Given the description of an element on the screen output the (x, y) to click on. 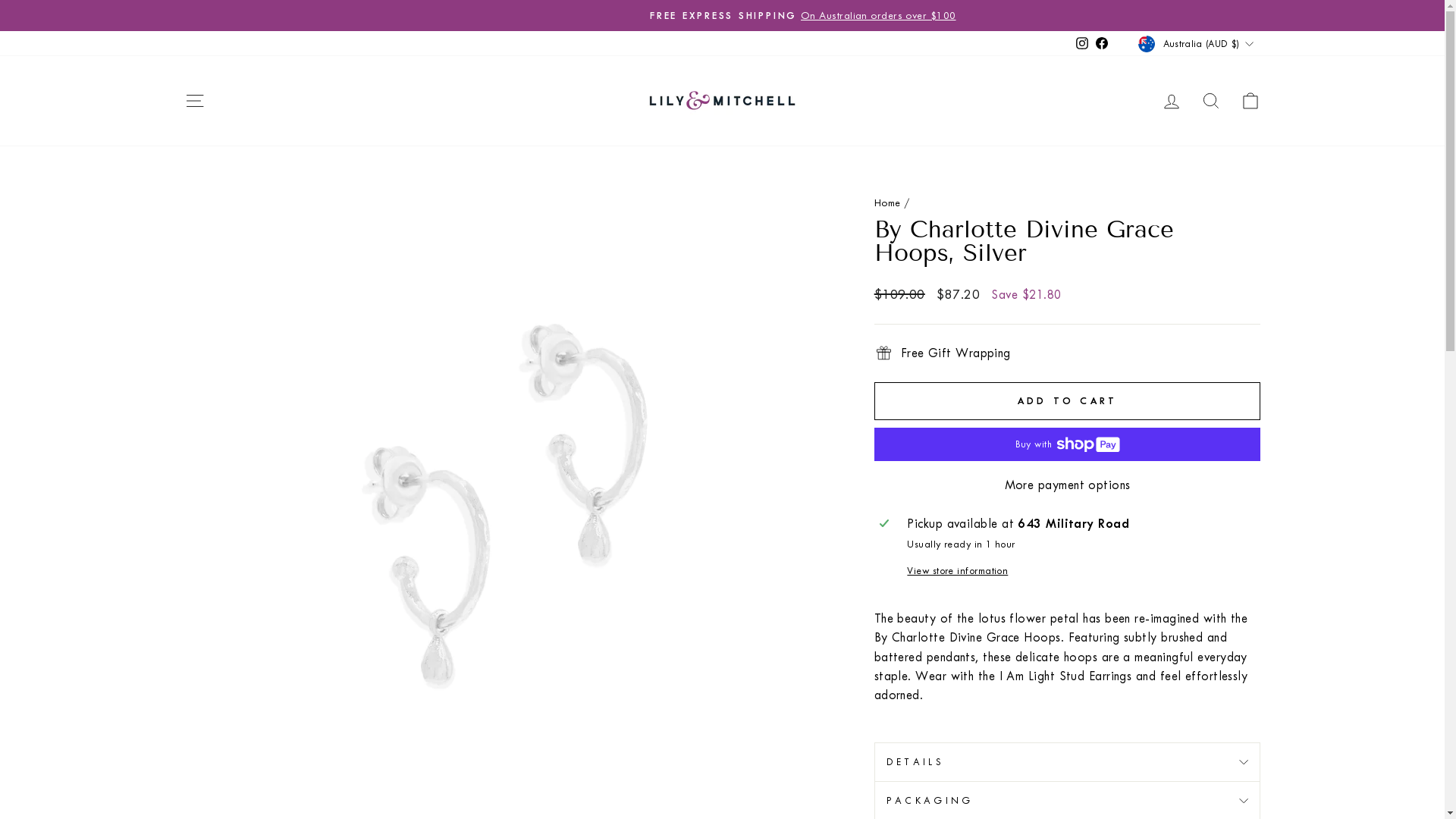
DETAILS Element type: text (1067, 761)
Home Element type: text (887, 202)
Facebook Element type: text (1101, 43)
View store information Element type: text (1080, 570)
ADD TO CART Element type: text (1067, 401)
Cart Element type: text (1249, 100)
More payment options Element type: text (1067, 484)
Site navigation Element type: text (193, 100)
Instagram Element type: text (1082, 43)
Search Element type: text (1210, 100)
Australia (AUD $) Element type: text (1197, 43)
FREE GIFT WRAPPINGon all items Element type: text (722, 15)
Log in Element type: text (1170, 100)
